Given the description of an element on the screen output the (x, y) to click on. 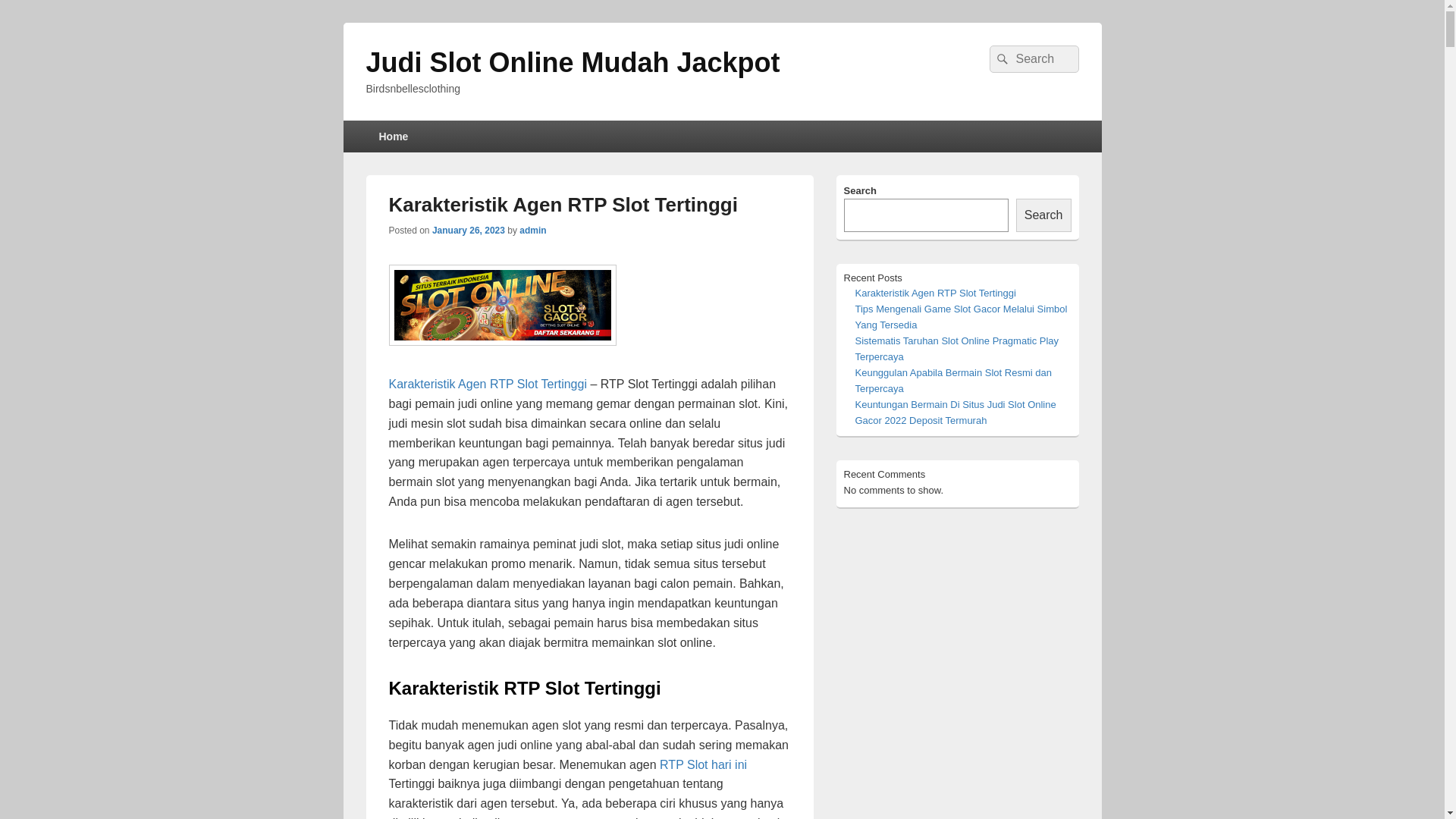
Keunggulan Apabila Bermain Slot Resmi dan Terpercaya Element type: text (953, 380)
Search Element type: text (1043, 215)
RTP Slot hari ini Element type: text (702, 764)
Tips Mengenali Game Slot Gacor Melalui Simbol Yang Tersedia Element type: text (961, 316)
Sistematis Taruhan Slot Online Pragmatic Play Terpercaya Element type: text (957, 348)
Home Element type: text (392, 136)
Judi Slot Online Mudah Jackpot Element type: text (572, 62)
admin Element type: text (532, 230)
Karakteristik Agen RTP Slot Tertinggi Element type: text (487, 383)
Search for: Element type: hover (1033, 58)
Search Element type: text (999, 58)
January 26, 2023 Element type: text (468, 230)
Karakteristik Agen RTP Slot Tertinggi Element type: text (935, 292)
Karakteristik Agen RTP Slot Tertinggi Element type: text (562, 204)
